Given the description of an element on the screen output the (x, y) to click on. 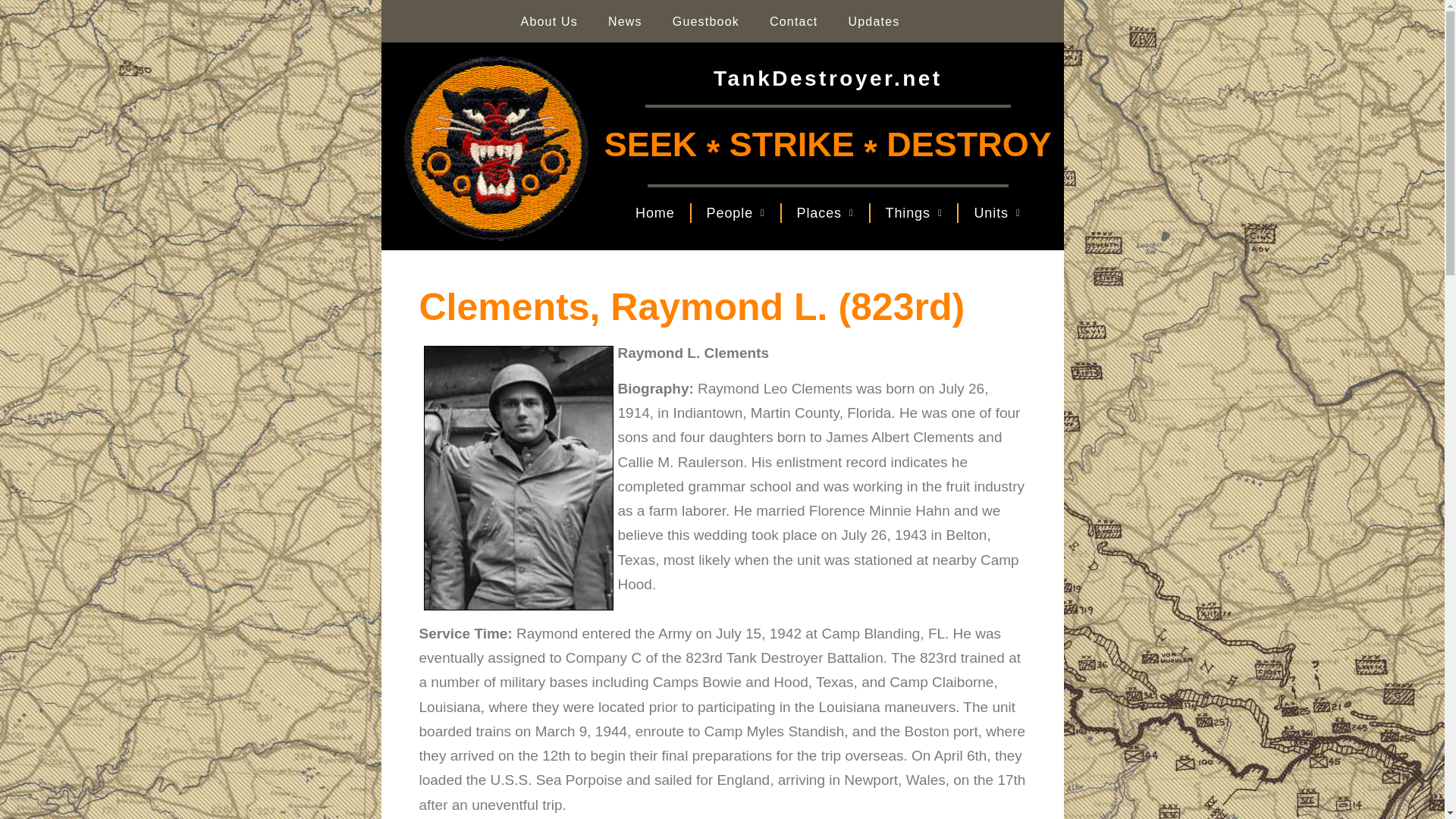
News (625, 21)
Places (825, 213)
Updates (873, 21)
Guestbook (706, 21)
Things (914, 213)
Home (655, 213)
About Us (548, 21)
People (735, 213)
Contact (793, 21)
